Given the description of an element on the screen output the (x, y) to click on. 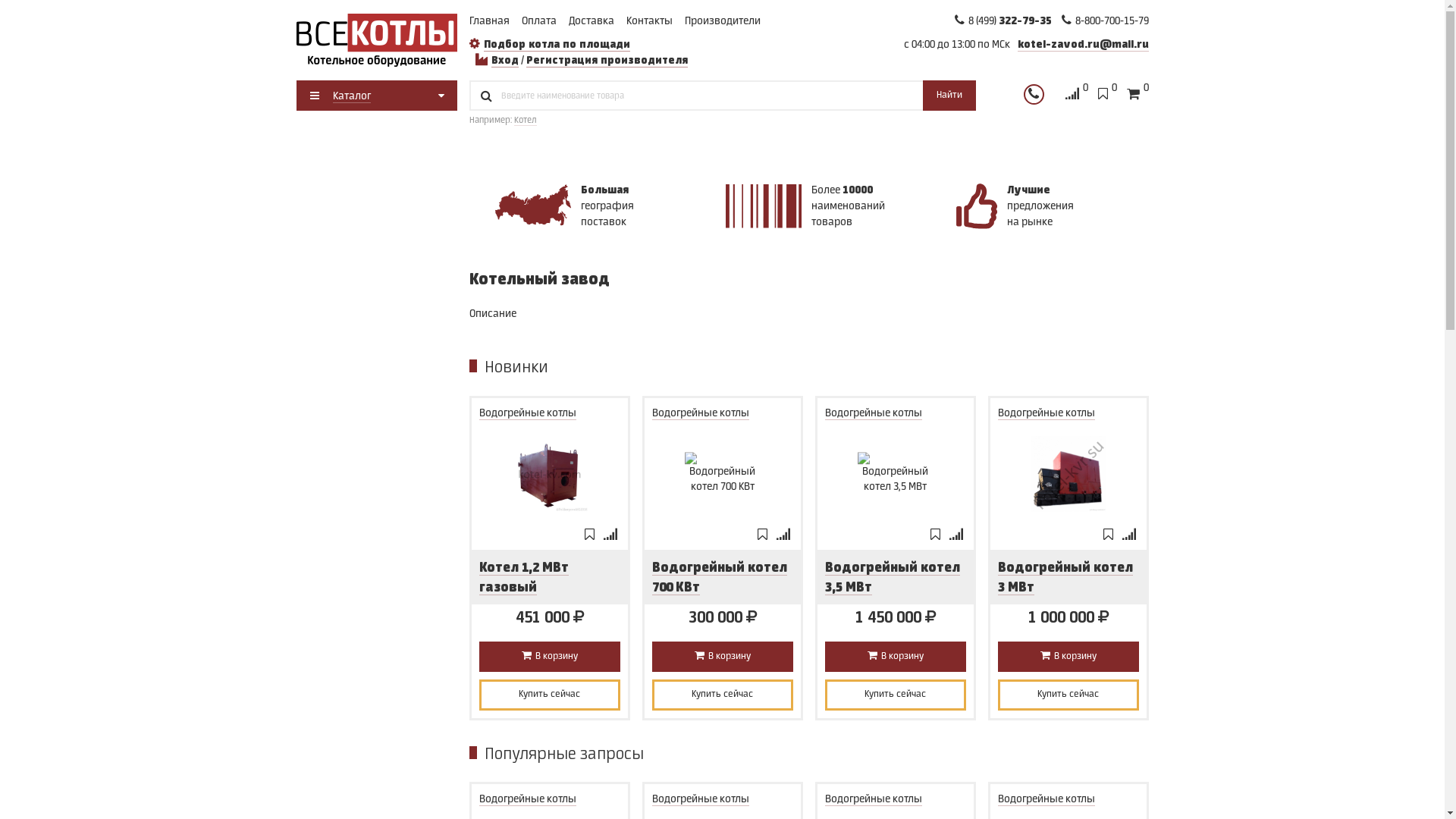
kotel-zavod.ru@mail.ru Element type: text (1082, 44)
0 Element type: text (1107, 95)
0 Element type: text (1137, 95)
0 Element type: text (1075, 95)
